Given the description of an element on the screen output the (x, y) to click on. 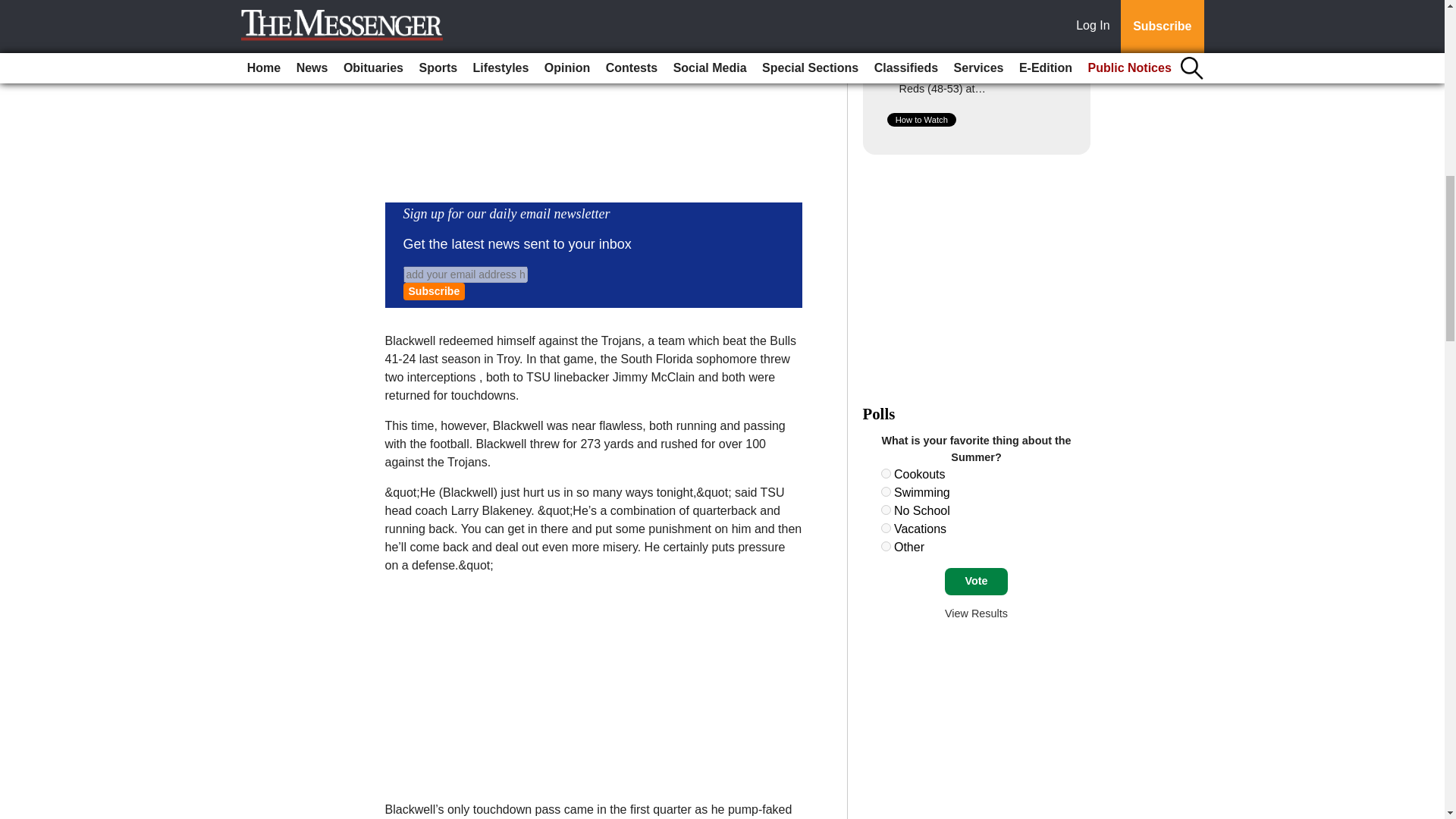
Subscribe (434, 291)
7275 (885, 491)
   Vote    (975, 581)
7276 (885, 510)
7277 (885, 528)
View Results Of This Poll (975, 613)
7278 (885, 546)
7274 (885, 473)
